Given the description of an element on the screen output the (x, y) to click on. 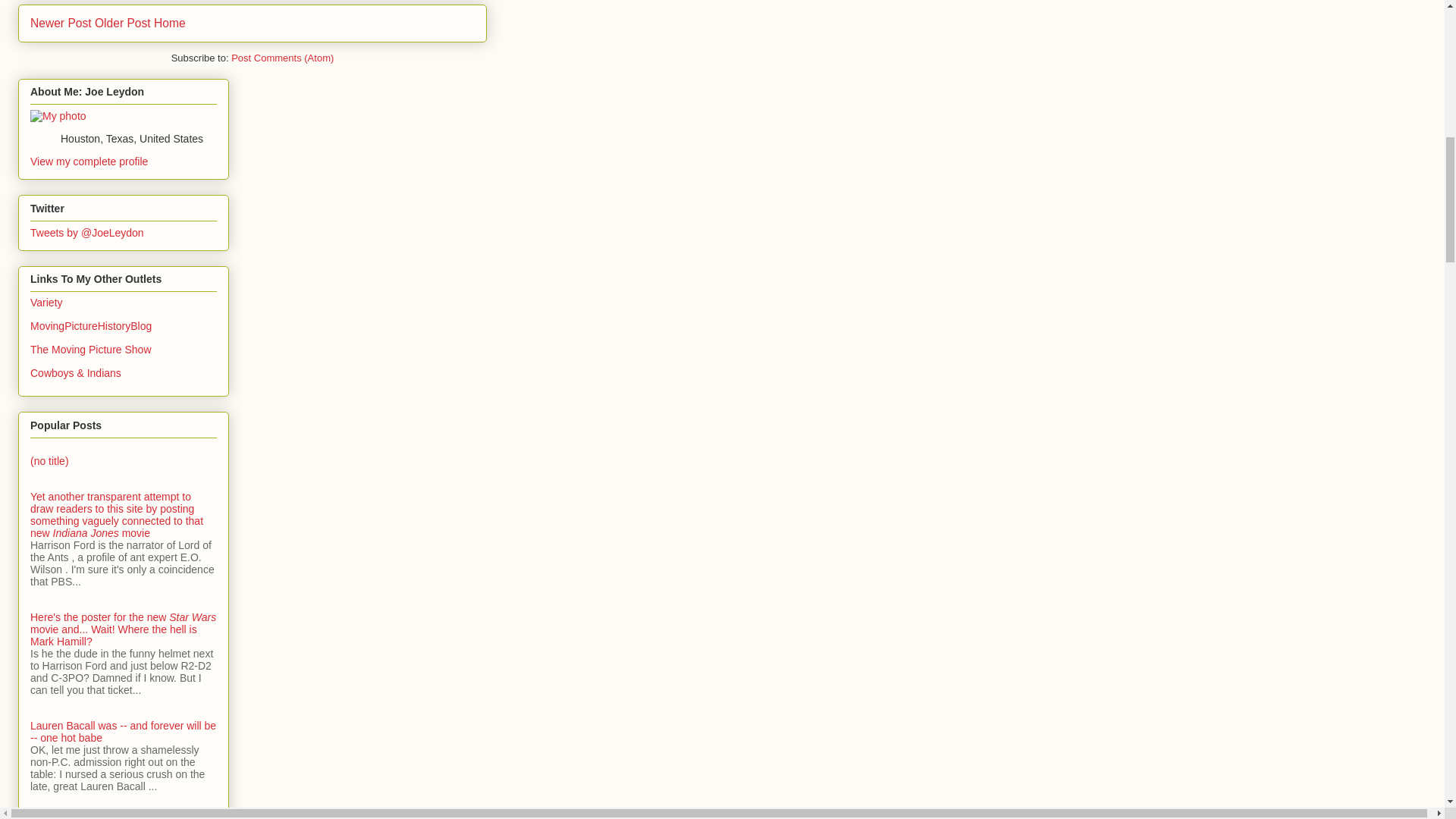
View my complete profile (89, 161)
Home (170, 22)
Older Post (122, 22)
Newer Post (60, 22)
